Given the description of an element on the screen output the (x, y) to click on. 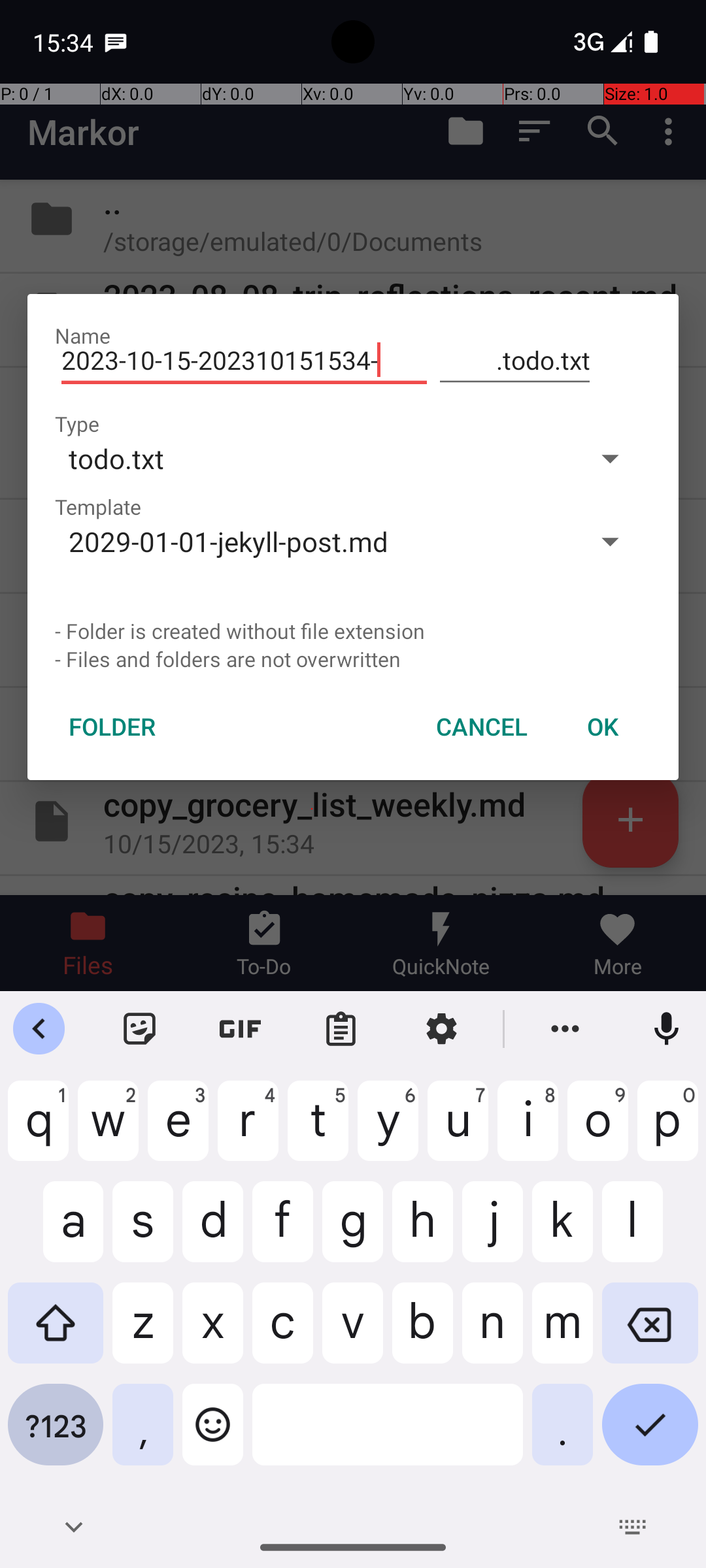
2023-10-15-202310151534- Element type: android.widget.EditText (243, 360)
.todo.txt Element type: android.widget.EditText (514, 360)
2029-01-01-jekyll-post.md Element type: android.widget.TextView (311, 540)
